Given the description of an element on the screen output the (x, y) to click on. 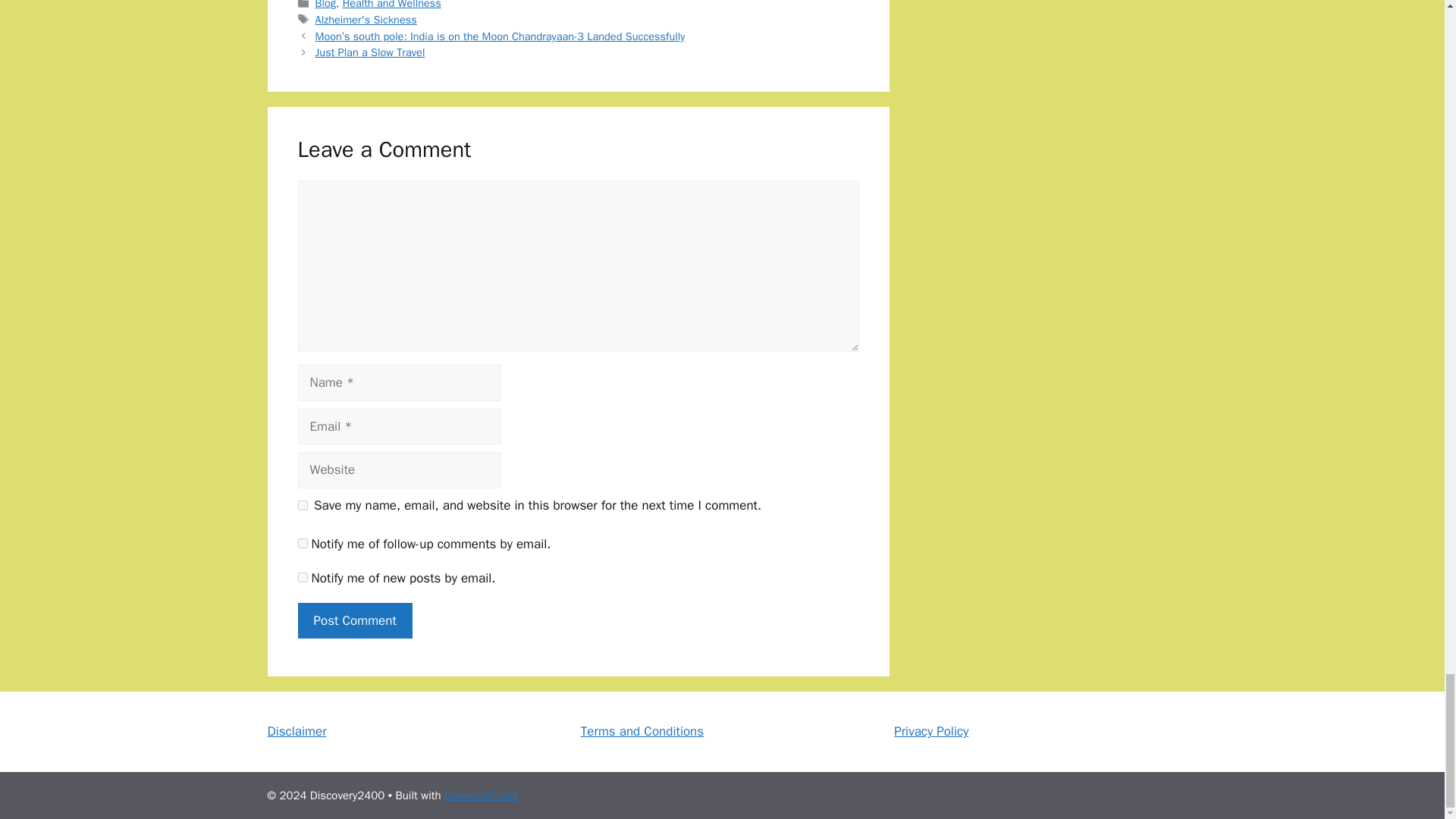
subscribe (302, 542)
subscribe (302, 577)
Post Comment (354, 620)
yes (302, 505)
